Given the description of an element on the screen output the (x, y) to click on. 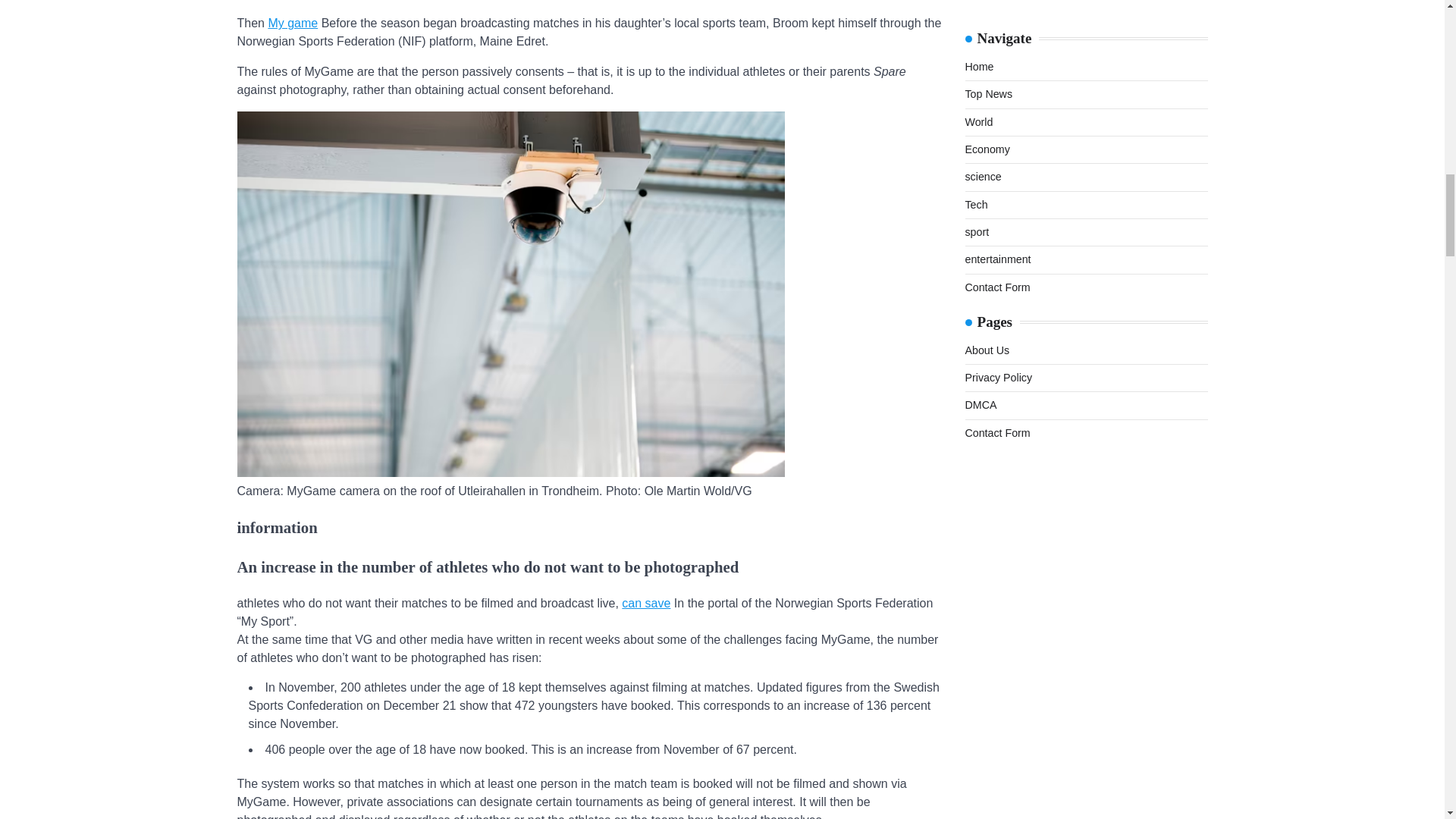
can save (645, 603)
My game (292, 22)
